Given the description of an element on the screen output the (x, y) to click on. 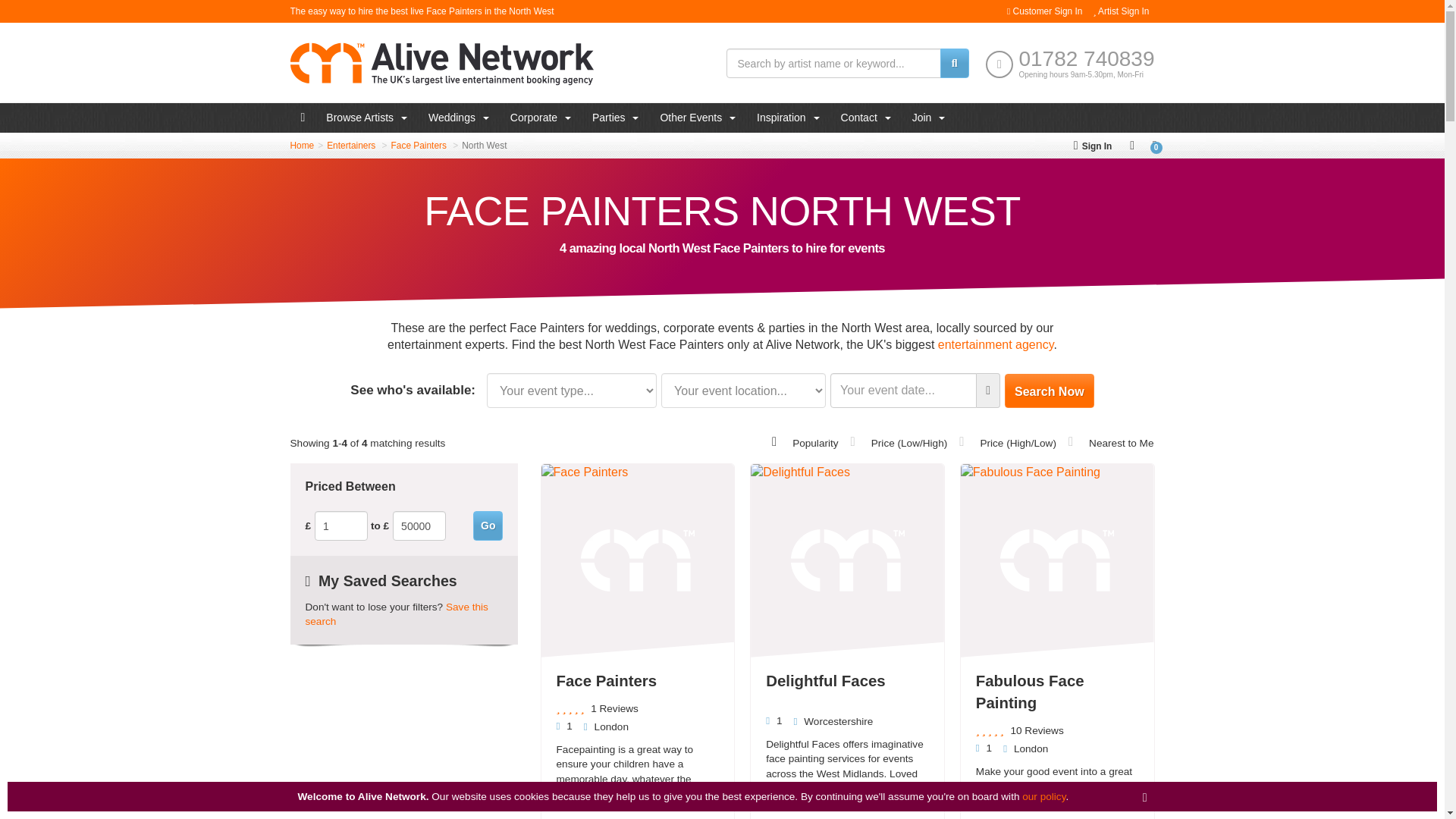
Contact (865, 117)
Other Events (697, 117)
Search Now (1049, 390)
0 (1154, 145)
North West (483, 145)
Inspiration (787, 117)
Sign in to an Artist Account (1120, 11)
Parties (614, 117)
entertainment agency (995, 344)
Sign In (1092, 145)
Face Painters (418, 145)
Home (301, 145)
View Face Painters (418, 145)
Sign in to a Customer Account (1044, 11)
Artist Sign In (1120, 11)
